Given the description of an element on the screen output the (x, y) to click on. 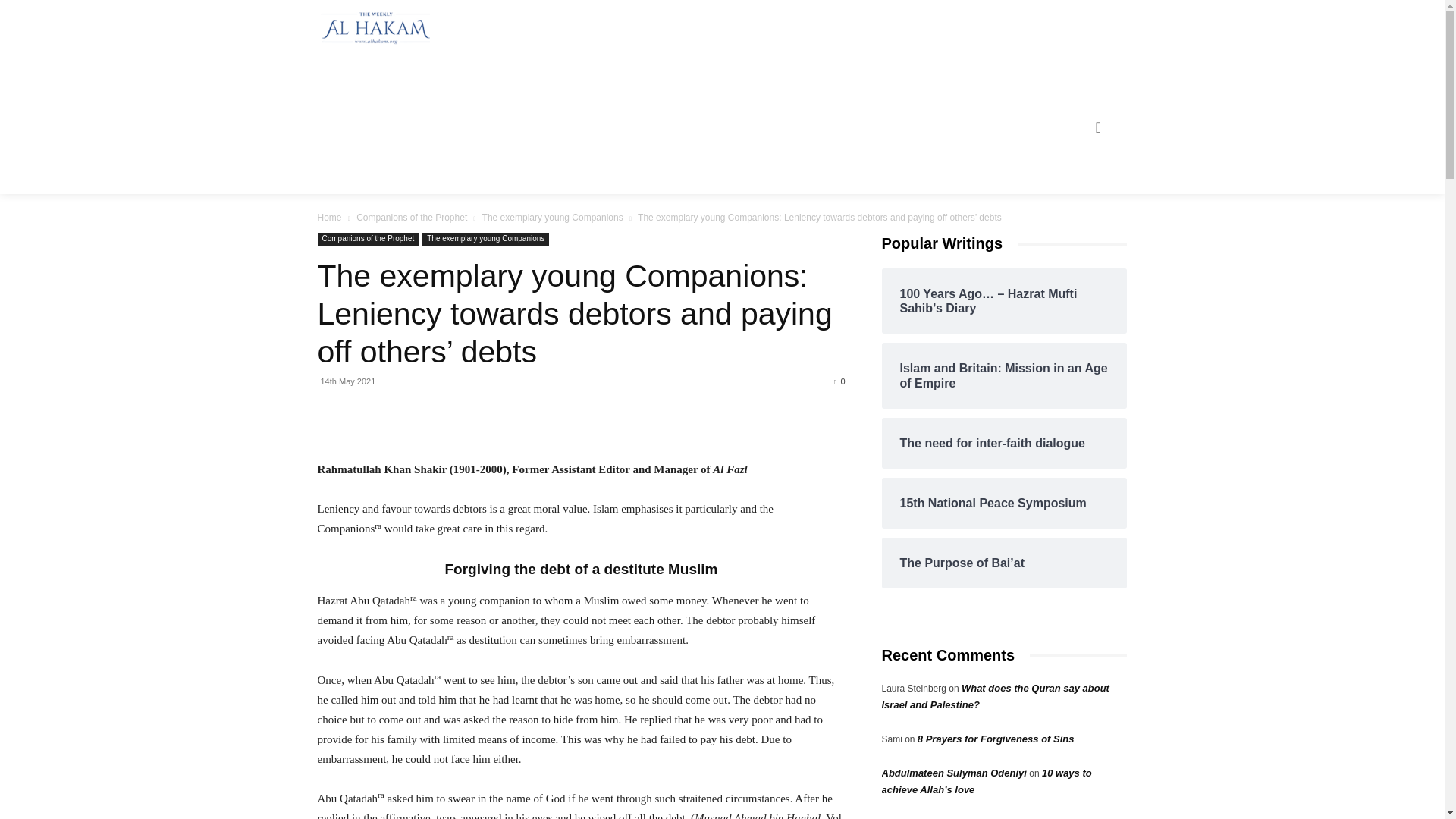
View all posts in Companions of the Prophet (411, 217)
View all posts in The exemplary young Companions (552, 217)
Alhakam (372, 27)
